Given the description of an element on the screen output the (x, y) to click on. 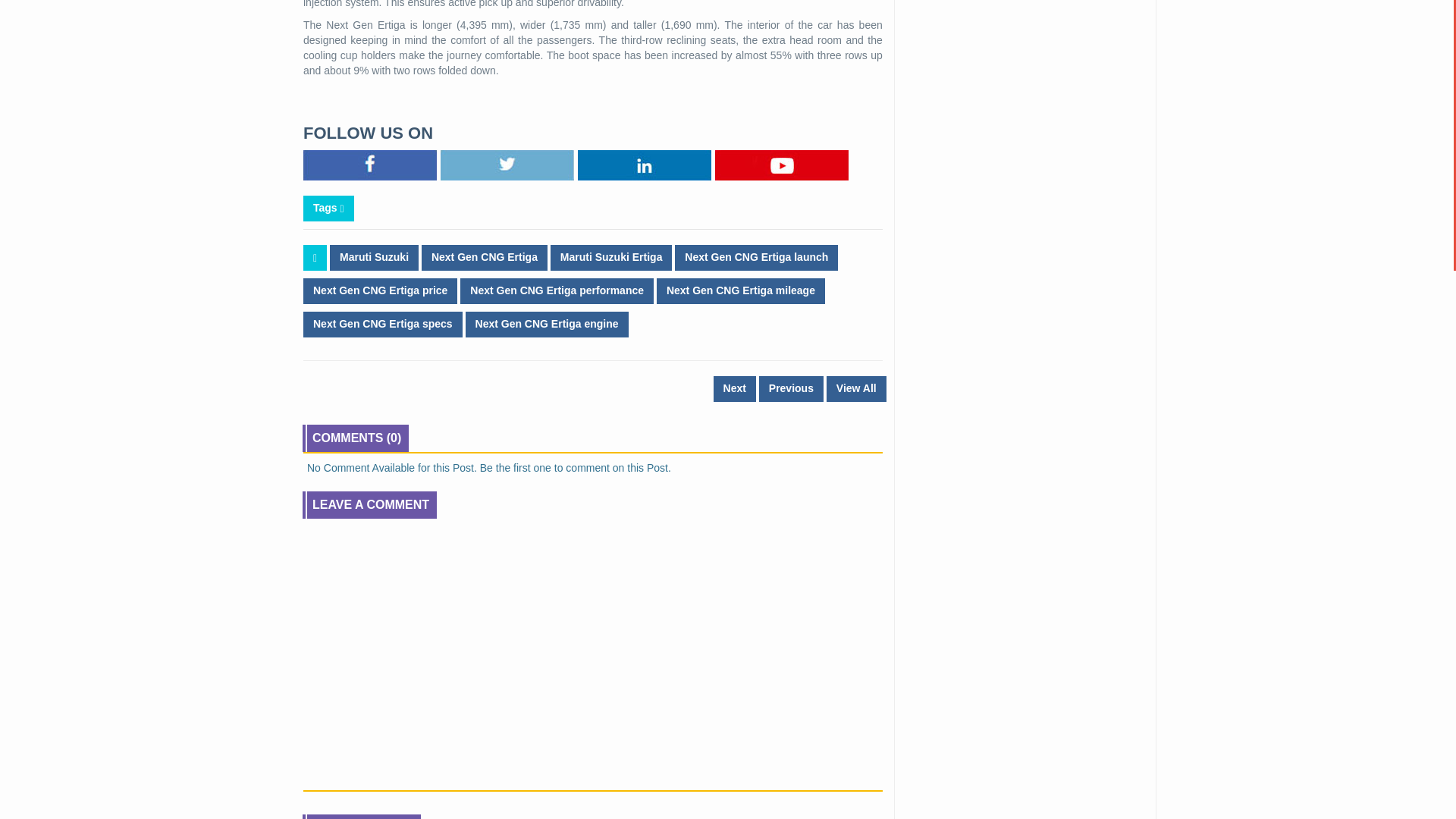
Post Comment (352, 765)
